Given the description of an element on the screen output the (x, y) to click on. 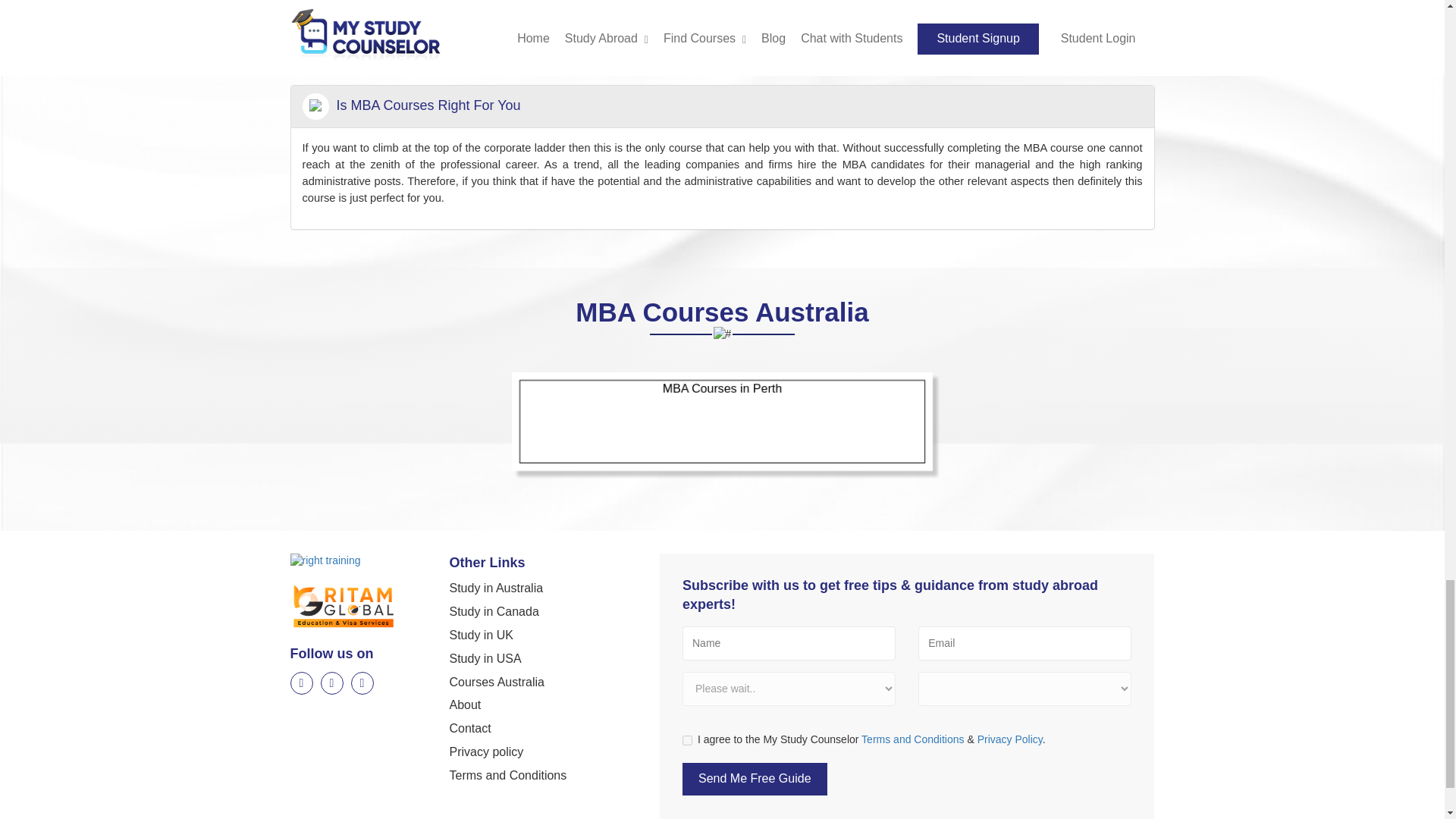
policy (687, 740)
